Given the description of an element on the screen output the (x, y) to click on. 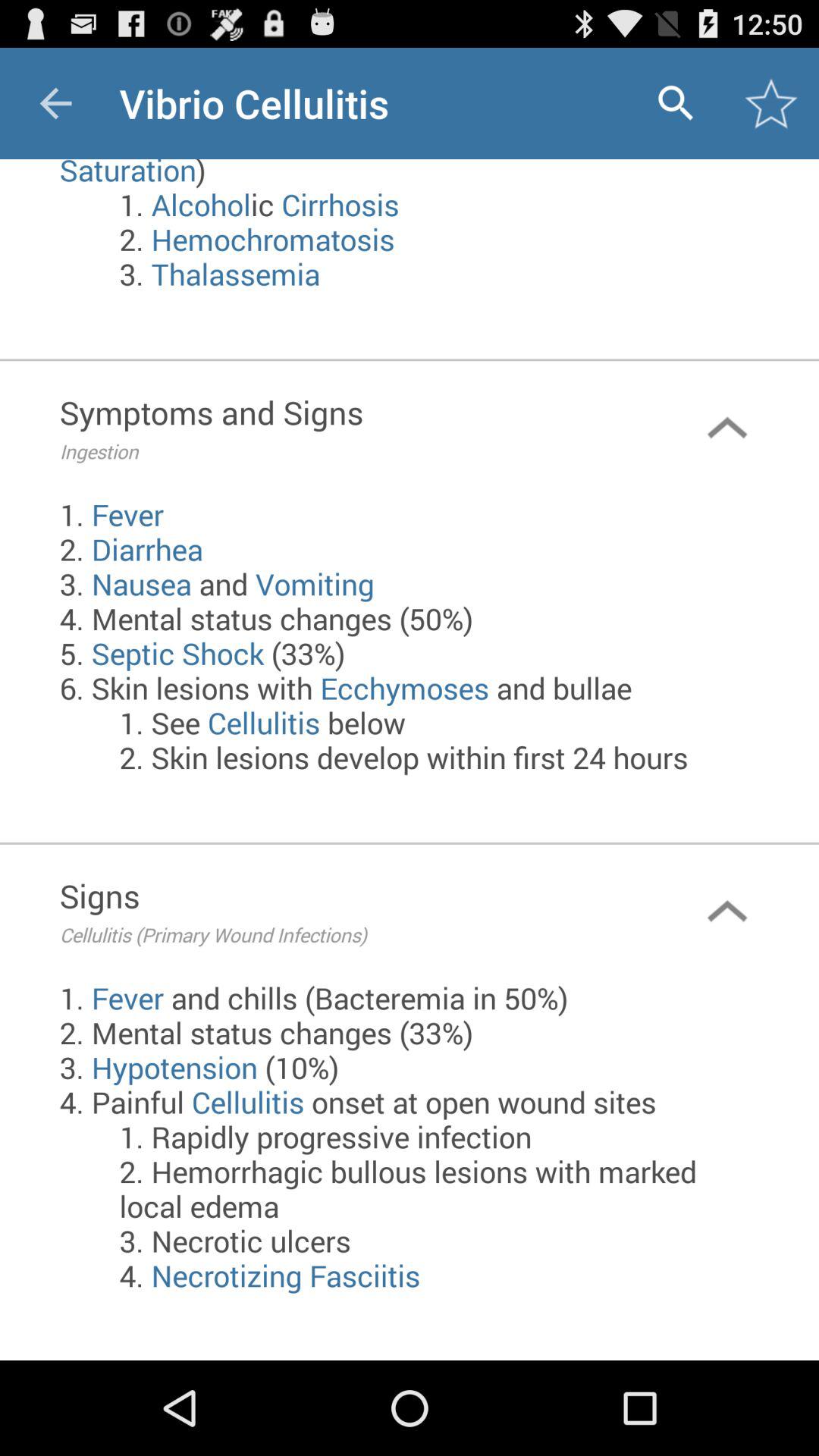
click the item above 1 immunocompromising conditions (675, 103)
